Given the description of an element on the screen output the (x, y) to click on. 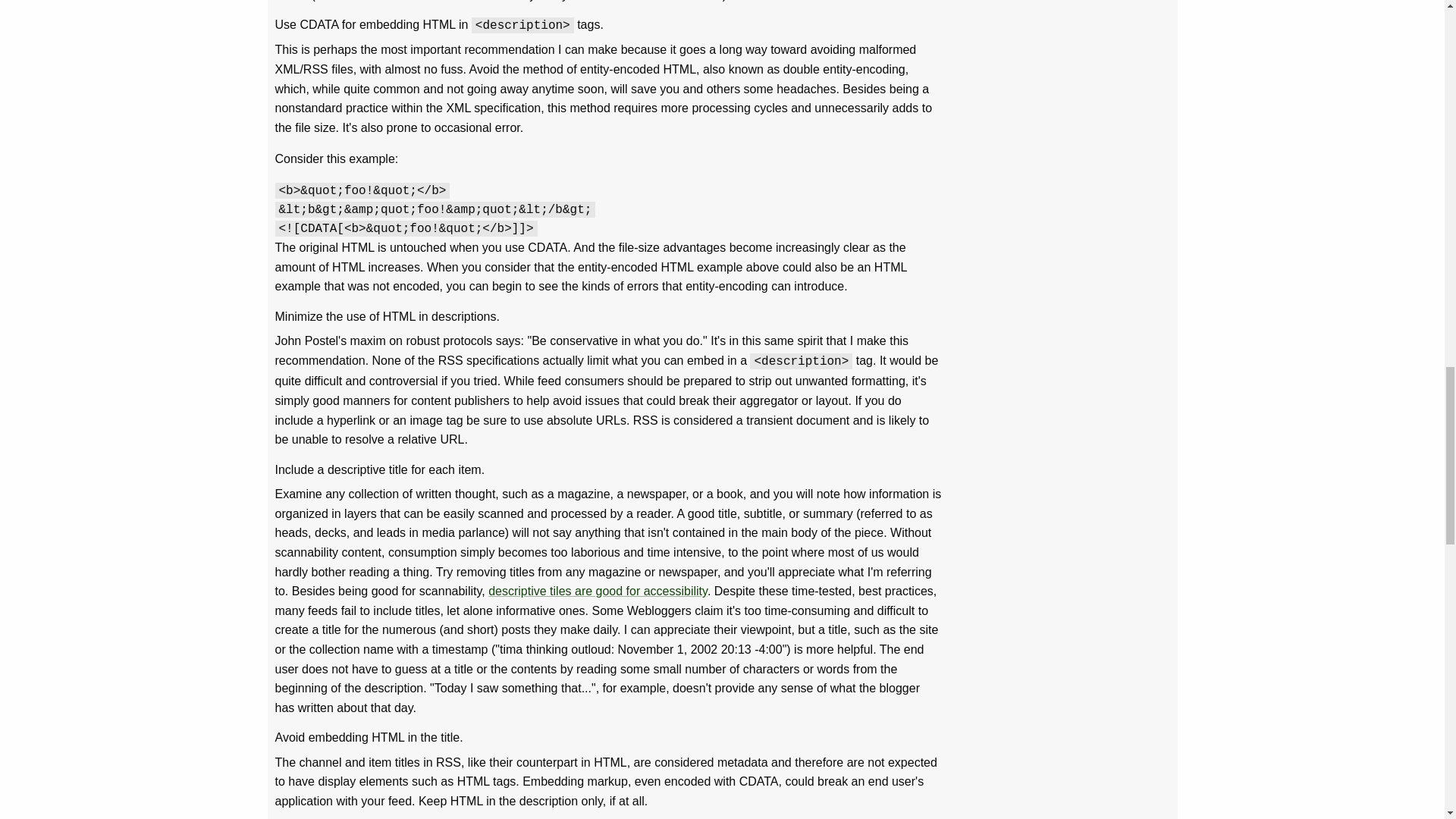
descriptive tiles are good for accessibility (597, 590)
